Given the description of an element on the screen output the (x, y) to click on. 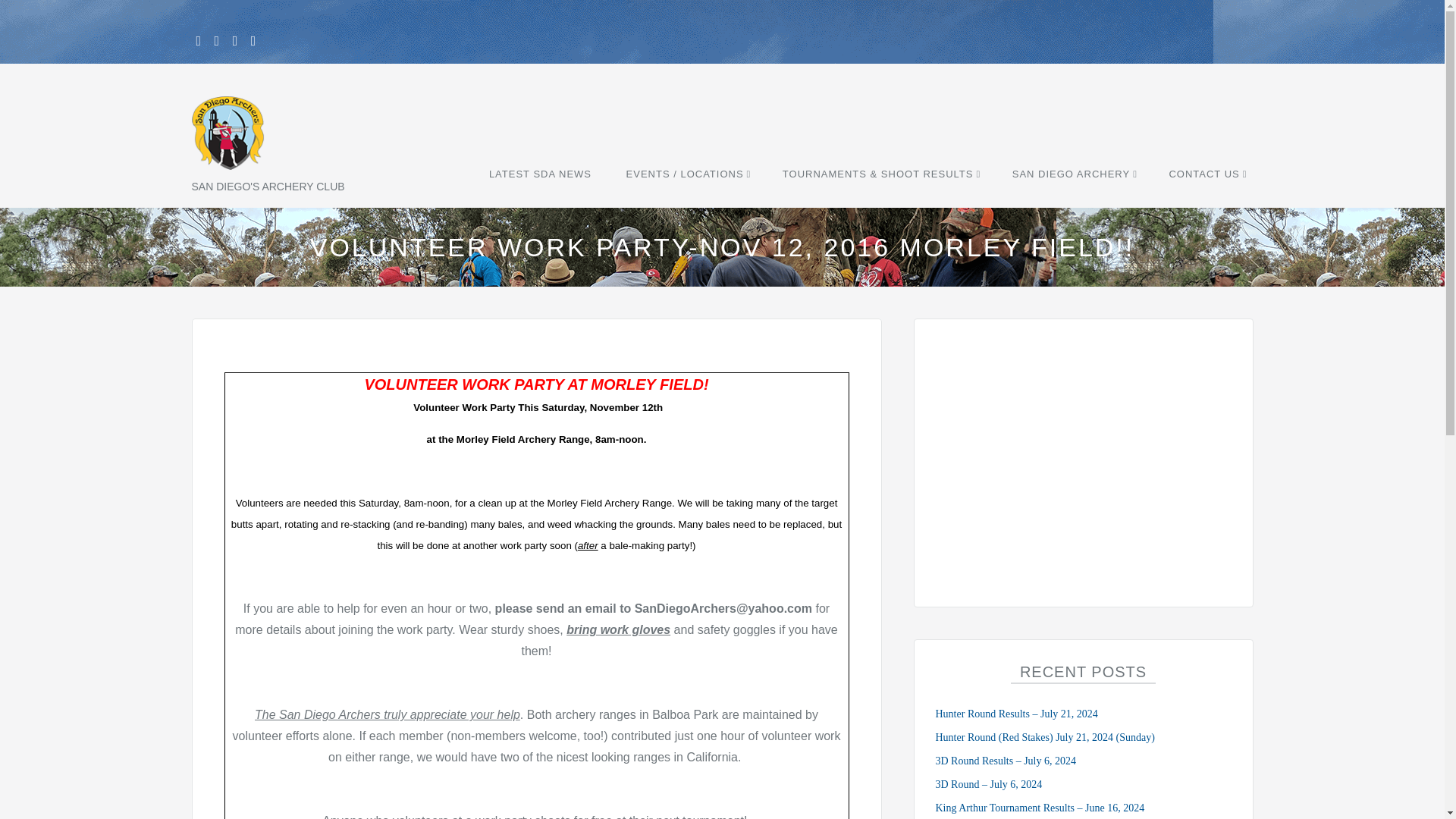
SAN DIEGO ARCHERS (258, 219)
Go to homepage (258, 219)
SAN DIEGO ARCHERY (1073, 173)
LATEST SDA NEWS (539, 173)
